Given the description of an element on the screen output the (x, y) to click on. 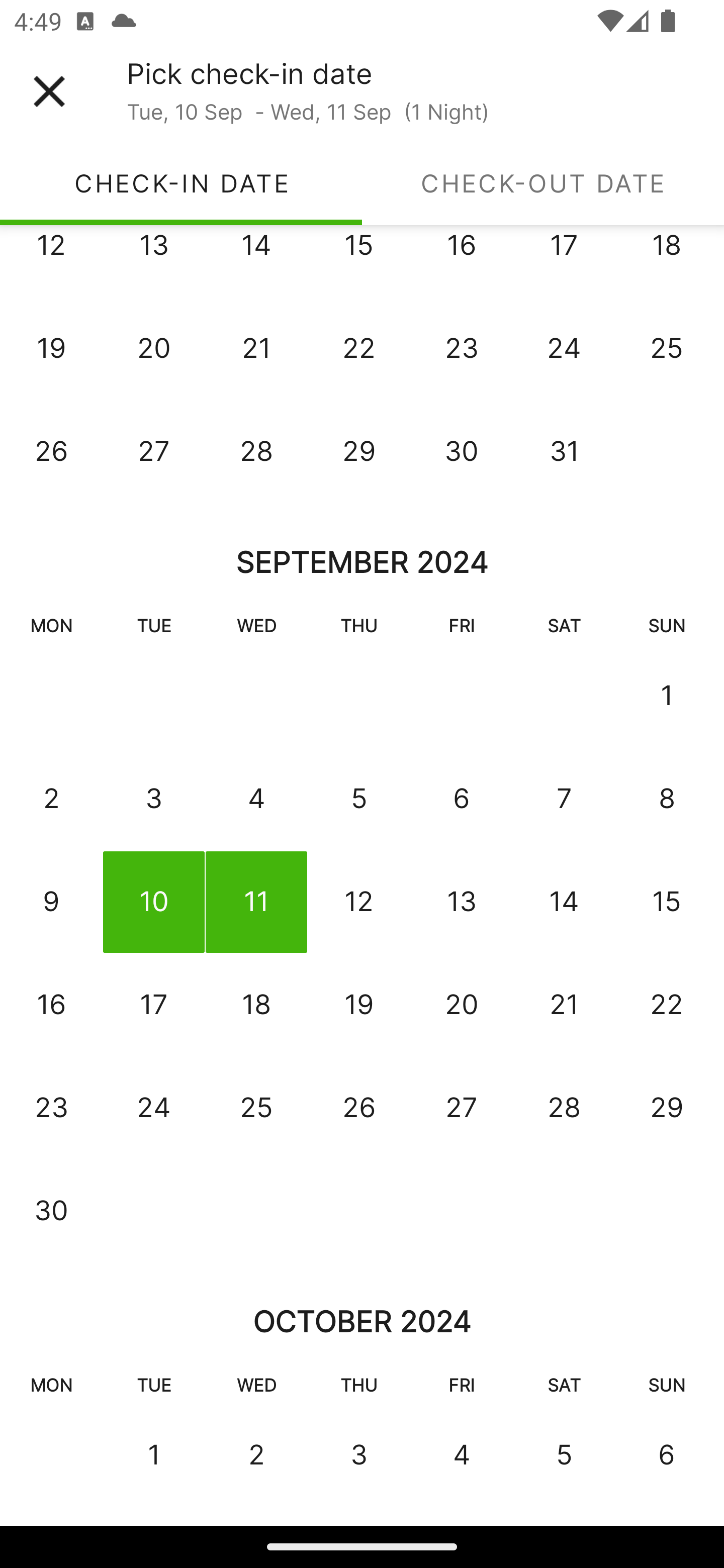
Check-out Date CHECK-OUT DATE (543, 183)
